Given the description of an element on the screen output the (x, y) to click on. 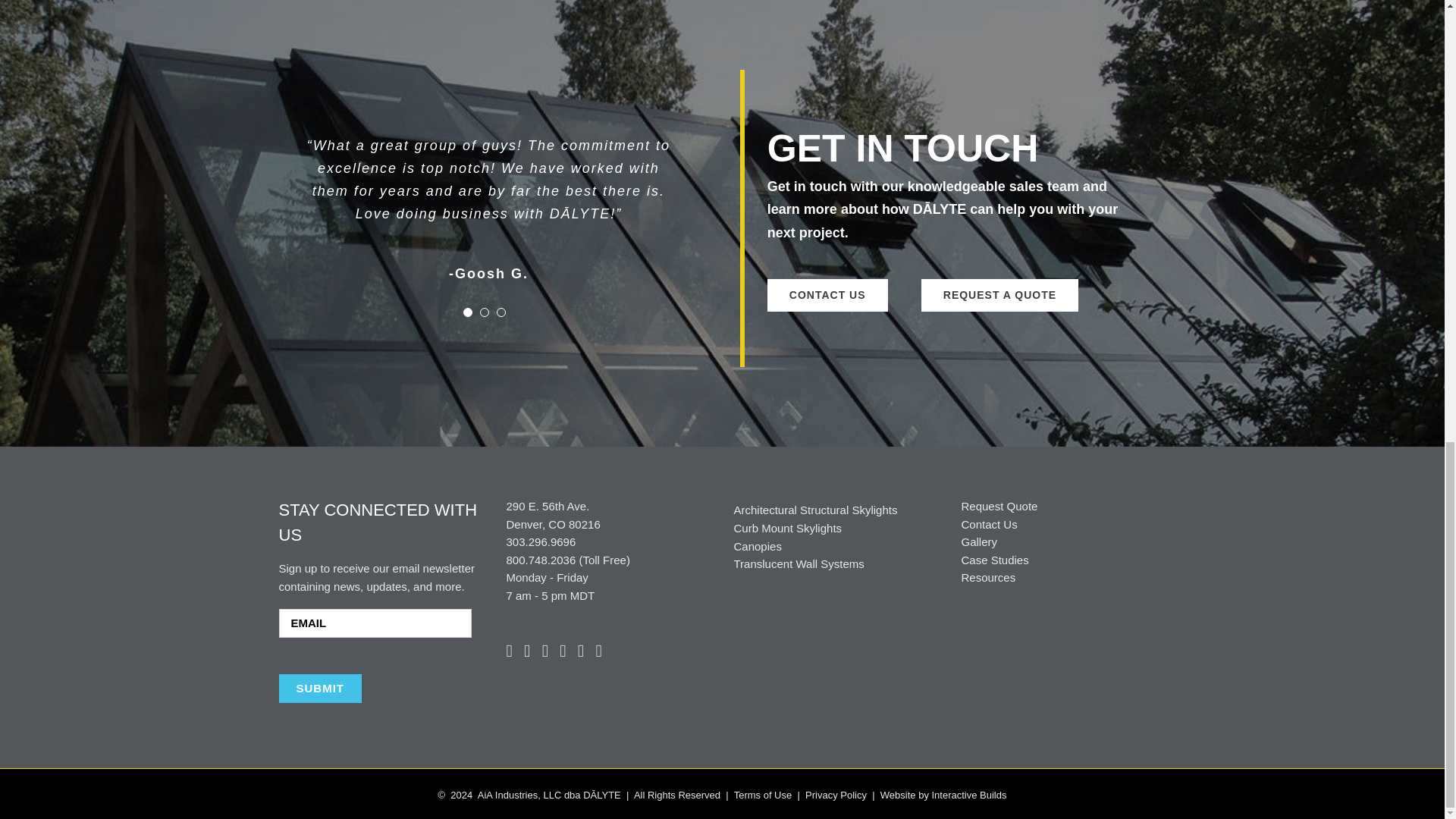
Submit (320, 688)
